Given the description of an element on the screen output the (x, y) to click on. 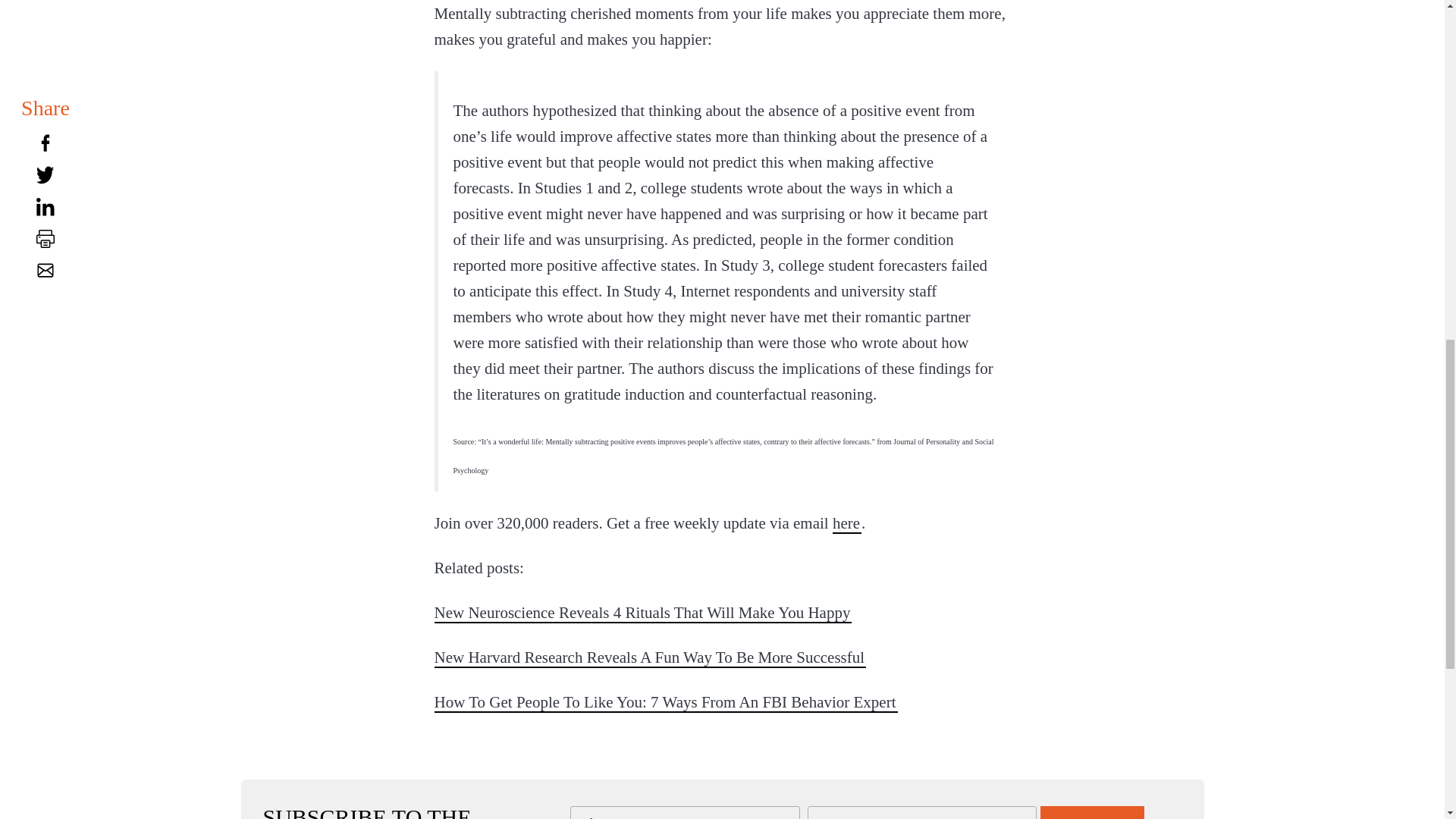
New Harvard Research Reveals A Fun Way To Be More Successful (649, 657)
Subscribe (1092, 812)
New Neuroscience Reveals 4 Rituals That Will Make You Happy (642, 612)
Subscribe (1092, 812)
here (846, 522)
